Given the description of an element on the screen output the (x, y) to click on. 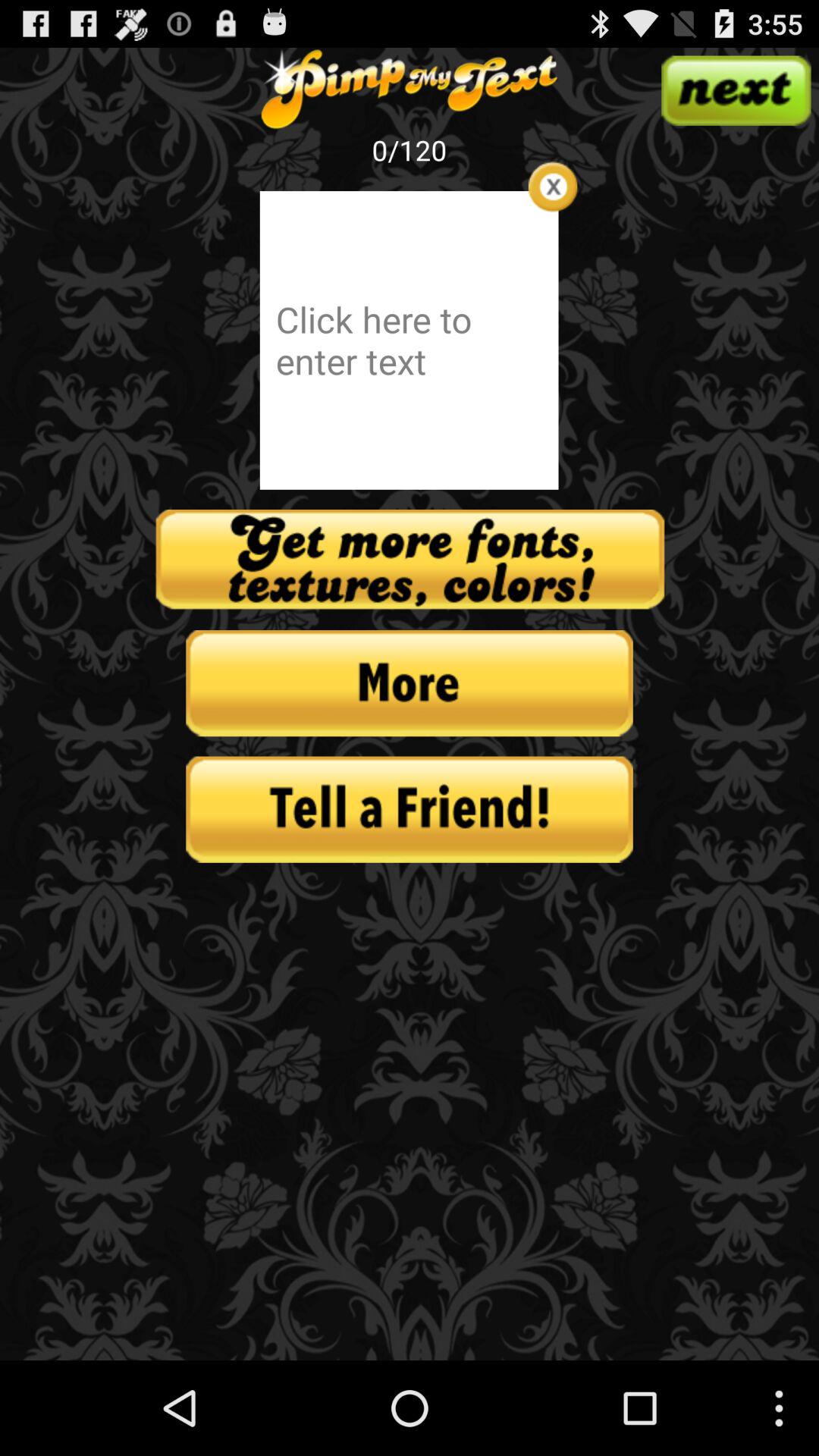
open app to the right of the 0/120 icon (552, 186)
